Given the description of an element on the screen output the (x, y) to click on. 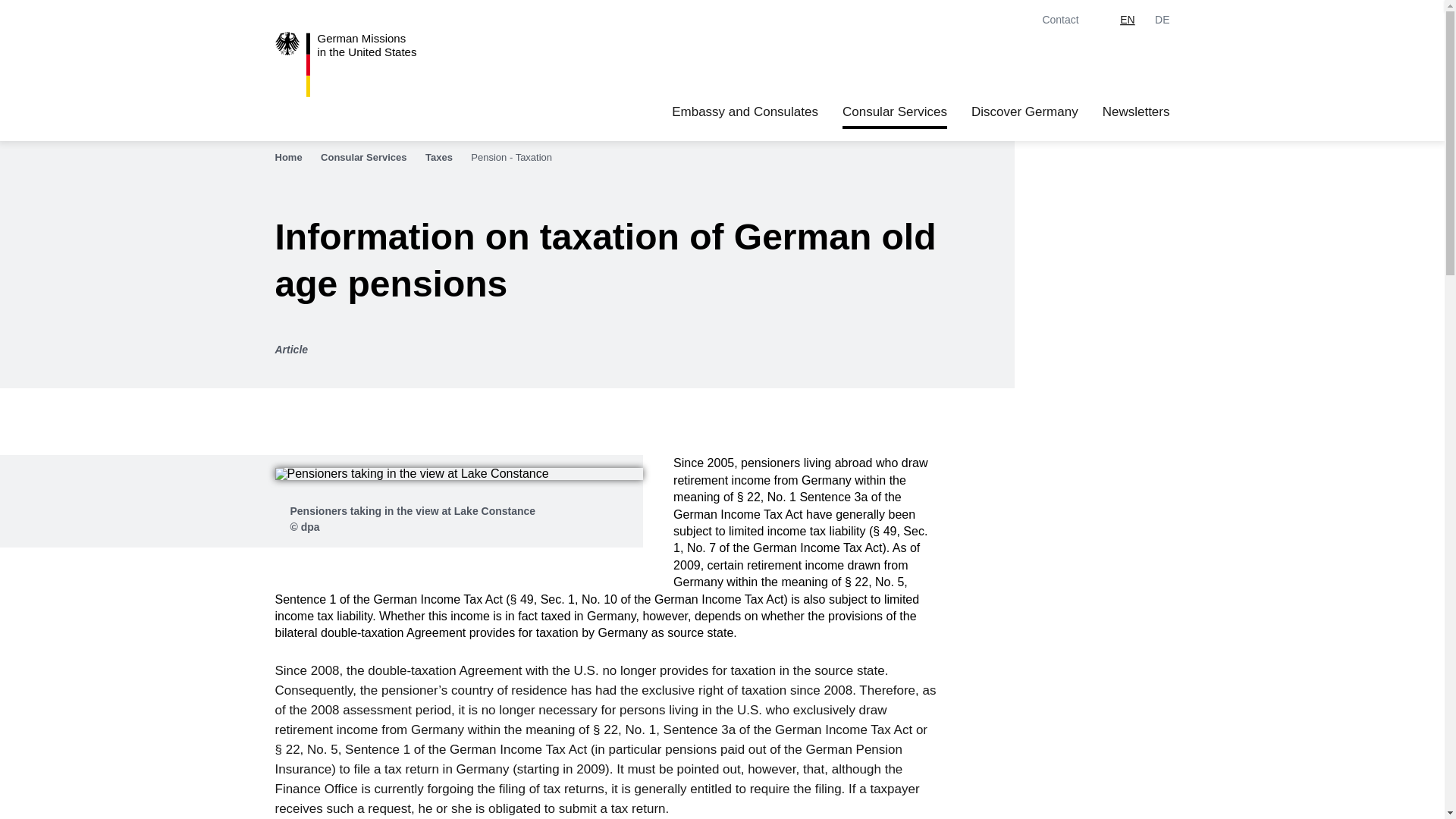
Consular Services (371, 157)
Contact (1070, 20)
Consular Services (895, 111)
English (1126, 19)
Embassy and Consulates (744, 111)
Taxes (446, 157)
German Missions in the United States (363, 64)
Contact (1070, 20)
DE (363, 64)
